Given the description of an element on the screen output the (x, y) to click on. 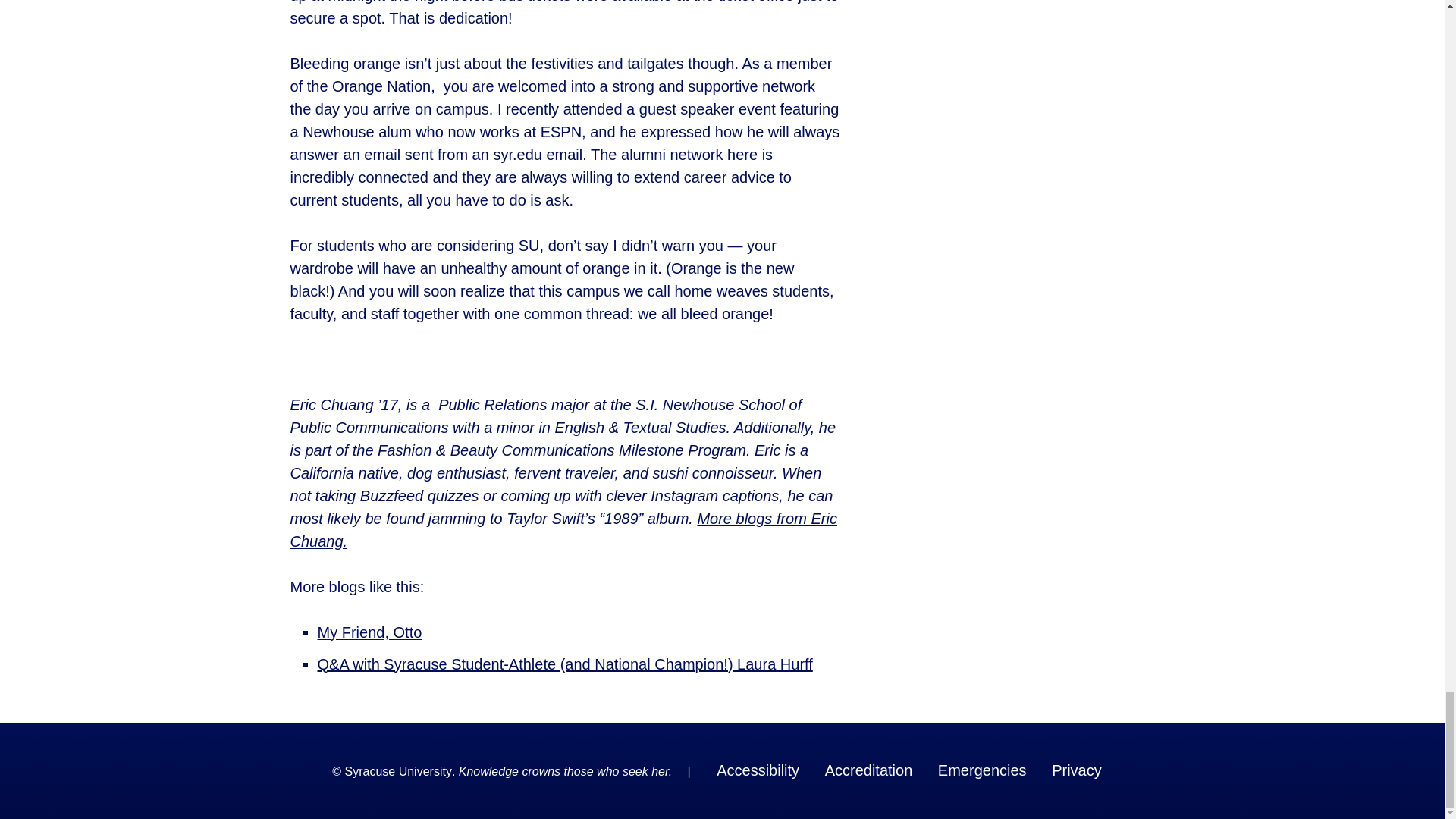
Accessibility (757, 770)
My Friend, Otto (369, 632)
Syracuse University (398, 771)
More blogs from Eric Chuang. (562, 529)
Accreditation (869, 770)
Emergencies (981, 770)
Privacy (1076, 770)
